Given the description of an element on the screen output the (x, y) to click on. 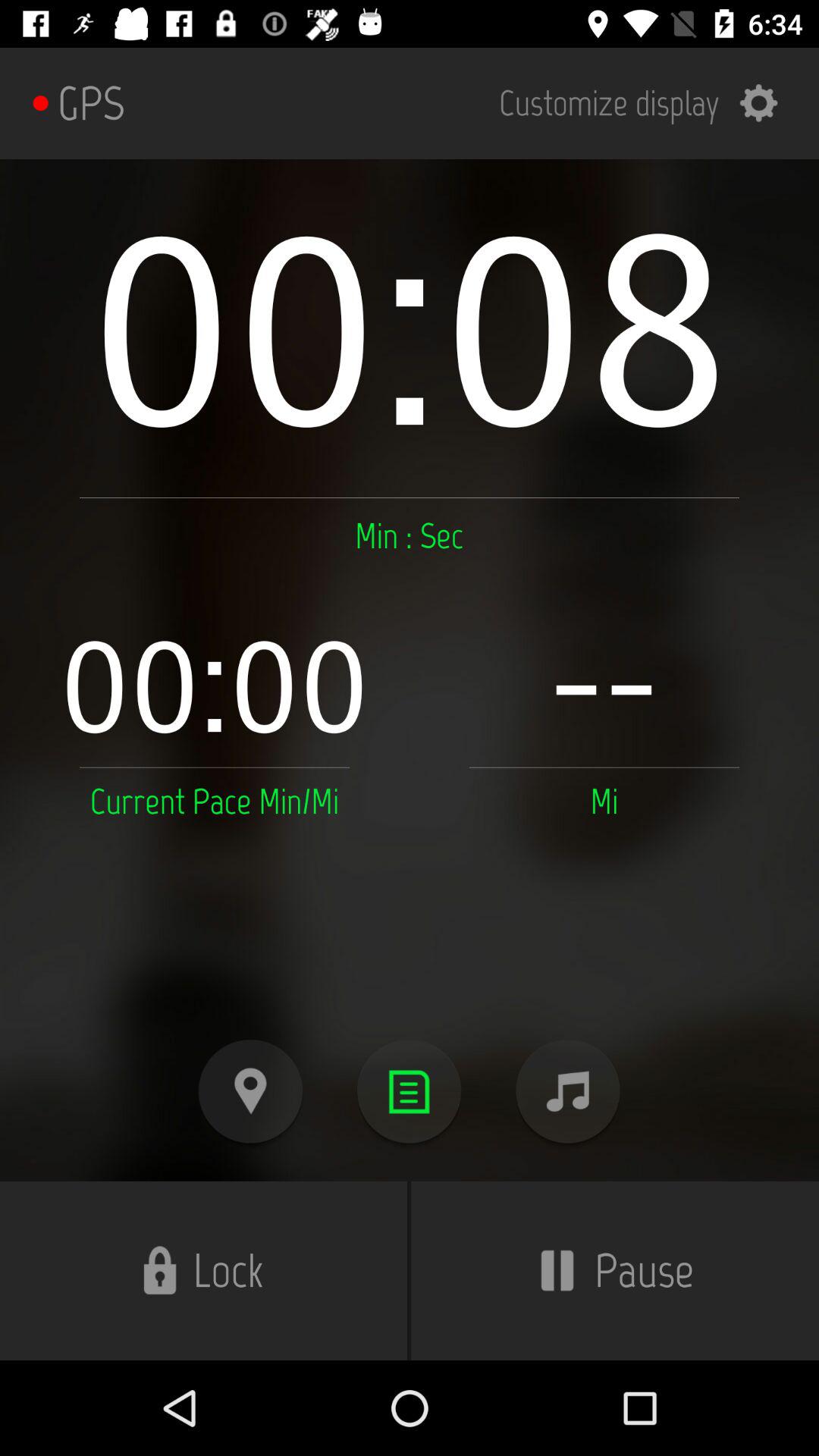
toggle location gps (250, 1091)
